Given the description of an element on the screen output the (x, y) to click on. 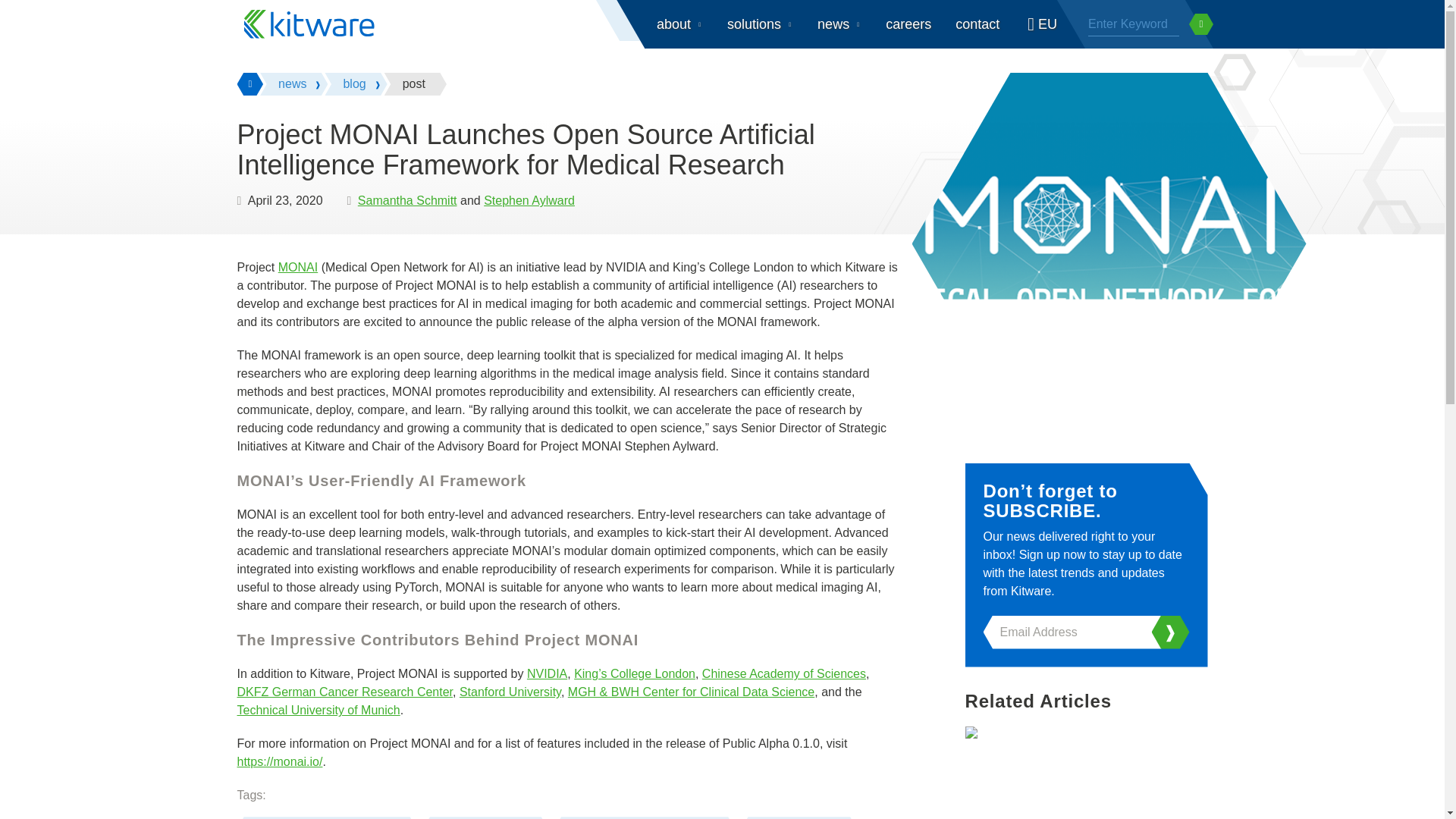
Technical University of Munich (316, 709)
Posts by Samantha Schmitt (407, 200)
NVIDIA (547, 673)
Samantha Schmitt (407, 200)
Stephen Aylward (529, 200)
Stanford University (510, 691)
blog (355, 83)
solutions (759, 23)
Chinese Academy of Sciences (783, 673)
about (679, 23)
Posts by Stephen Aylward (529, 200)
news (293, 83)
news (838, 23)
MONAI (297, 267)
EU (1040, 23)
